Given the description of an element on the screen output the (x, y) to click on. 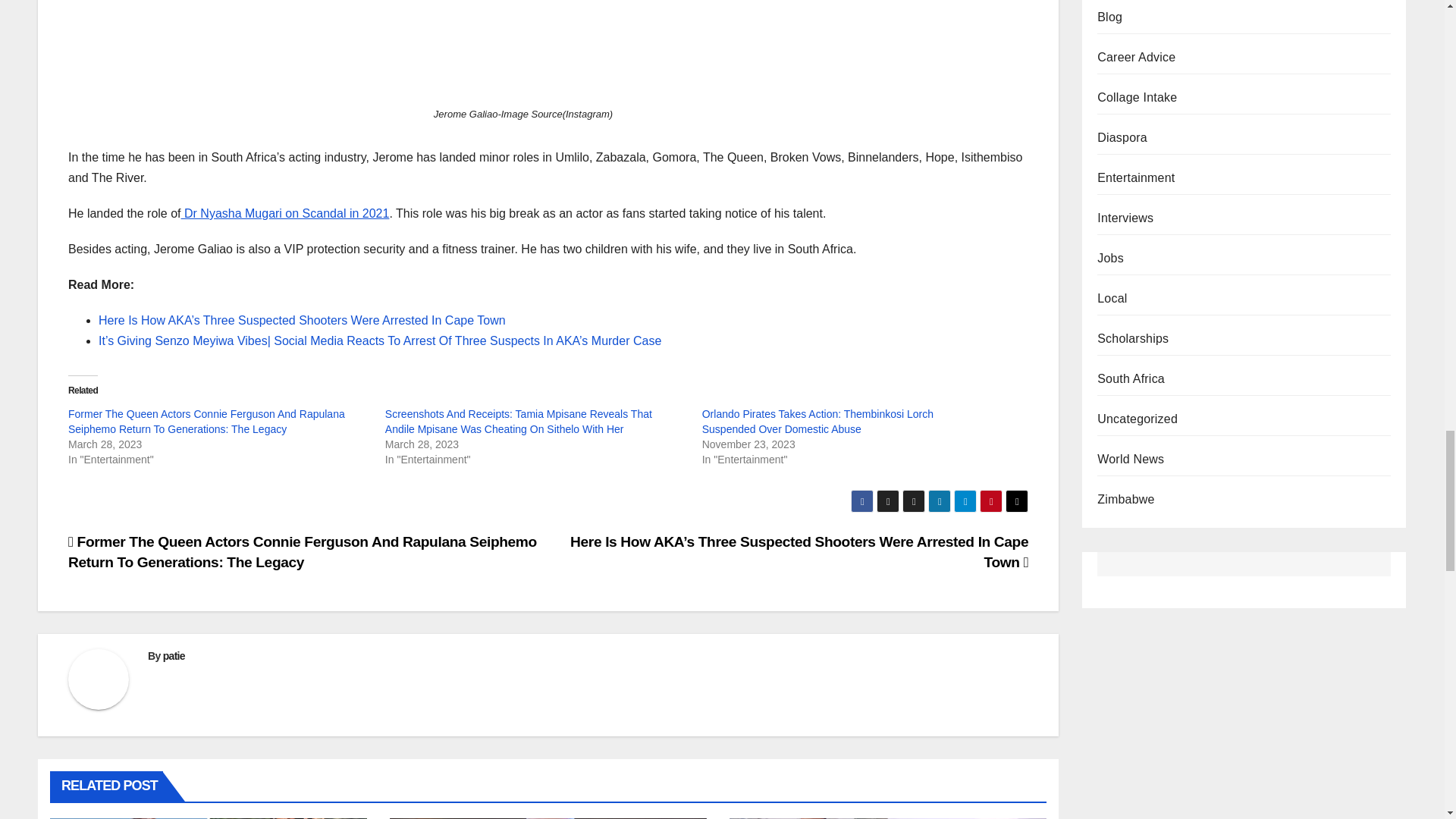
Dr Nyasha Mugari on Scandal in 2021 (285, 213)
patie (173, 655)
